Given the description of an element on the screen output the (x, y) to click on. 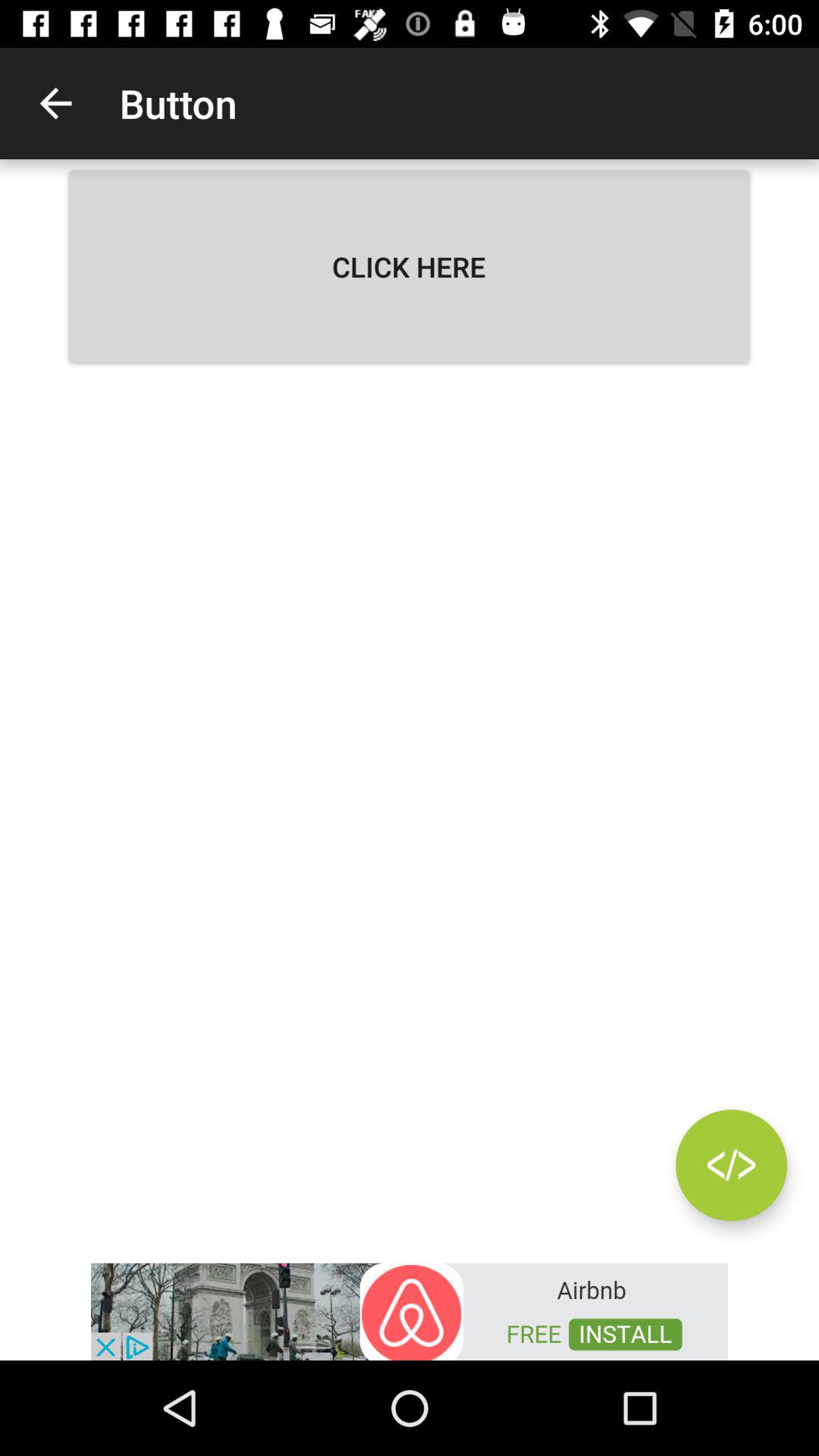
advertisement (409, 1310)
